Given the description of an element on the screen output the (x, y) to click on. 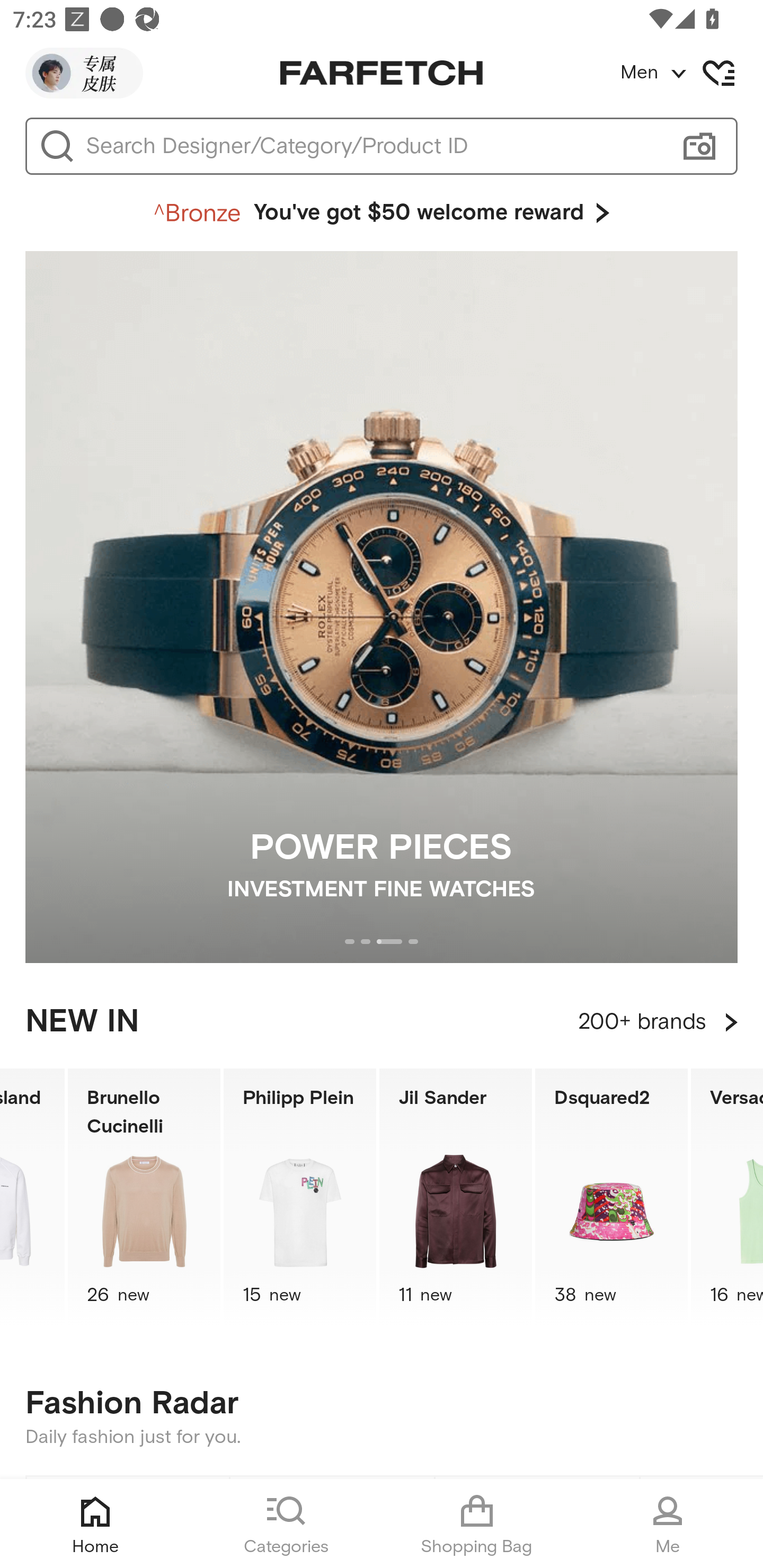
Men (691, 72)
Search Designer/Category/Product ID (373, 146)
You've got $50 welcome reward (381, 213)
NEW IN 200+ brands (381, 1021)
Brunello Cucinelli 26  new (143, 1196)
Philipp Plein 15  new (299, 1196)
Jil Sander 11  new (455, 1196)
Dsquared2 38  new (610, 1196)
Categories (285, 1523)
Shopping Bag (476, 1523)
Me (667, 1523)
